Given the description of an element on the screen output the (x, y) to click on. 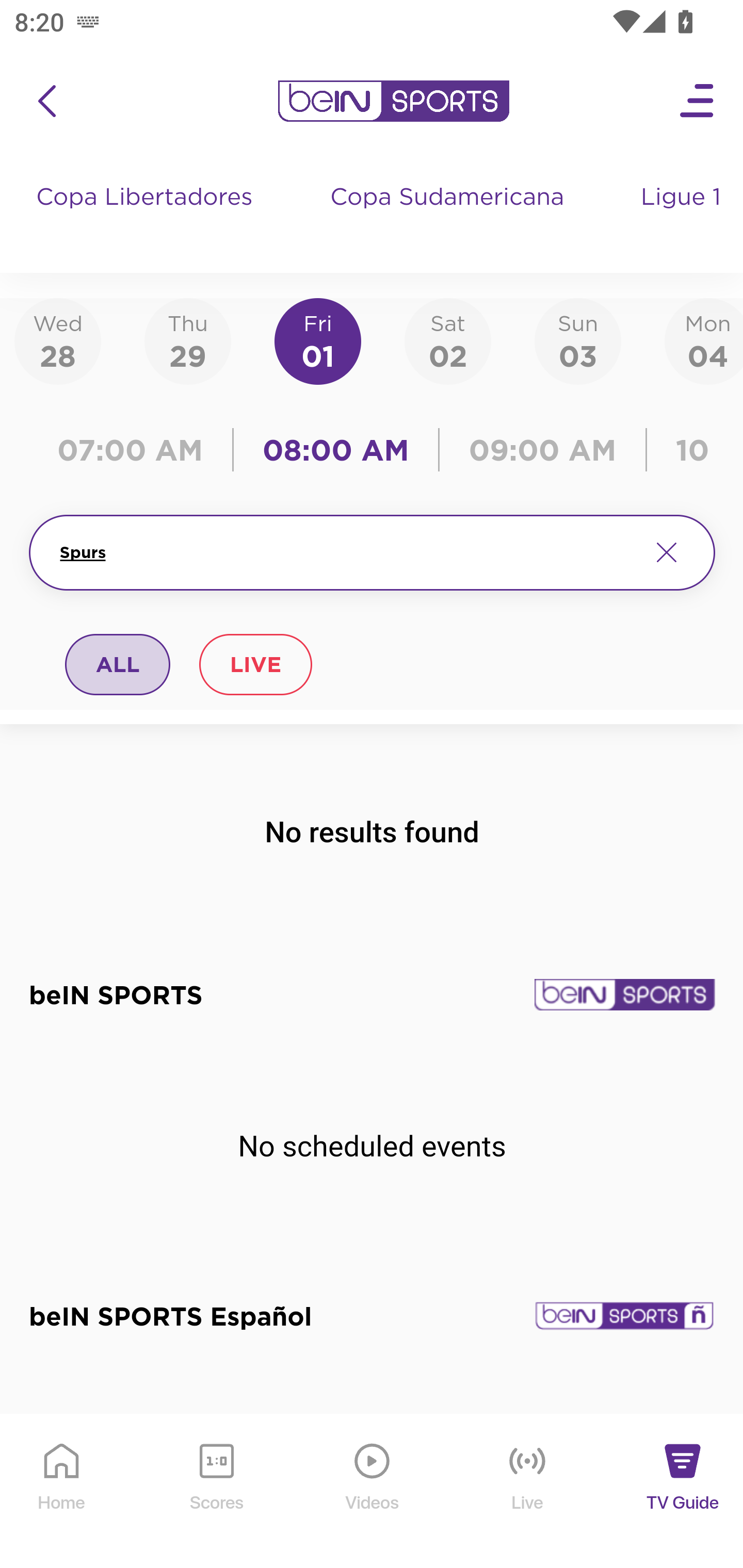
en-us?platform=mobile_android bein logo (392, 101)
icon back (46, 101)
Open Menu Icon (697, 101)
Copa Libertadores (146, 216)
Copa Sudamericana (448, 216)
Ligue 1 (682, 216)
Wed28 (58, 340)
Thu29 (187, 340)
Fri01 (318, 340)
Sat02 (447, 340)
Sun03 (578, 340)
Mon04 (703, 340)
07:00 AM (135, 449)
08:00 AM (336, 449)
09:00 AM (542, 449)
Spurs (346, 552)
ALL (118, 663)
LIVE (255, 663)
Home Home Icon Home (61, 1491)
Scores Scores Icon Scores (216, 1491)
Videos Videos Icon Videos (372, 1491)
TV Guide TV Guide Icon TV Guide (682, 1491)
